Given the description of an element on the screen output the (x, y) to click on. 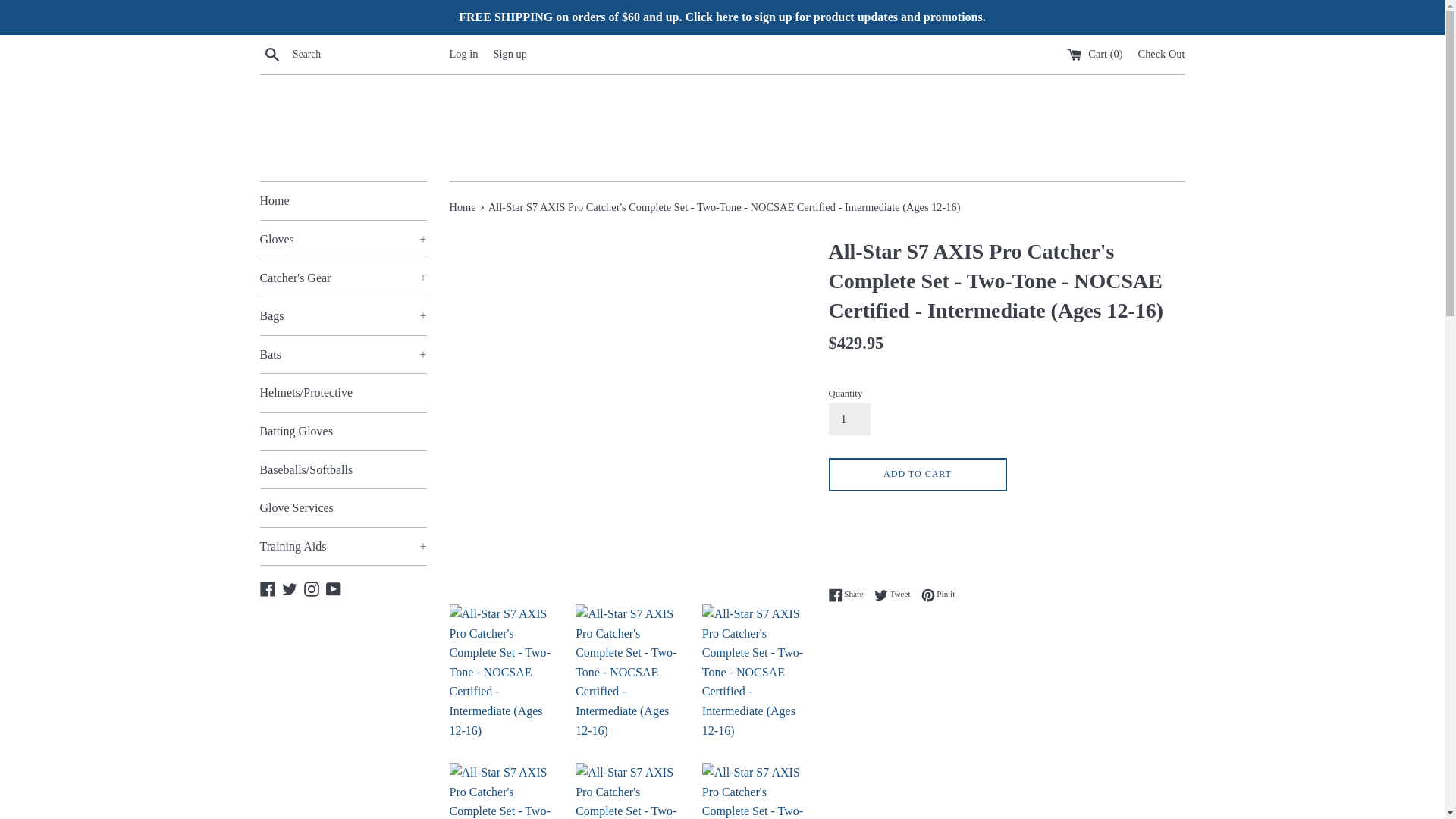
Pin on Pinterest (938, 594)
Apollo Sports Inc on Instagram (310, 586)
Back to the frontpage (463, 206)
Check Out (1161, 53)
Home (342, 200)
Share on Facebook (849, 594)
Search (271, 53)
Apollo Sports Inc on YouTube (333, 586)
Apollo Sports Inc on Facebook (267, 586)
Log in (462, 53)
1 (848, 418)
Tweet on Twitter (896, 594)
Sign up (510, 53)
Apollo Sports Inc on Twitter (289, 586)
